Given the description of an element on the screen output the (x, y) to click on. 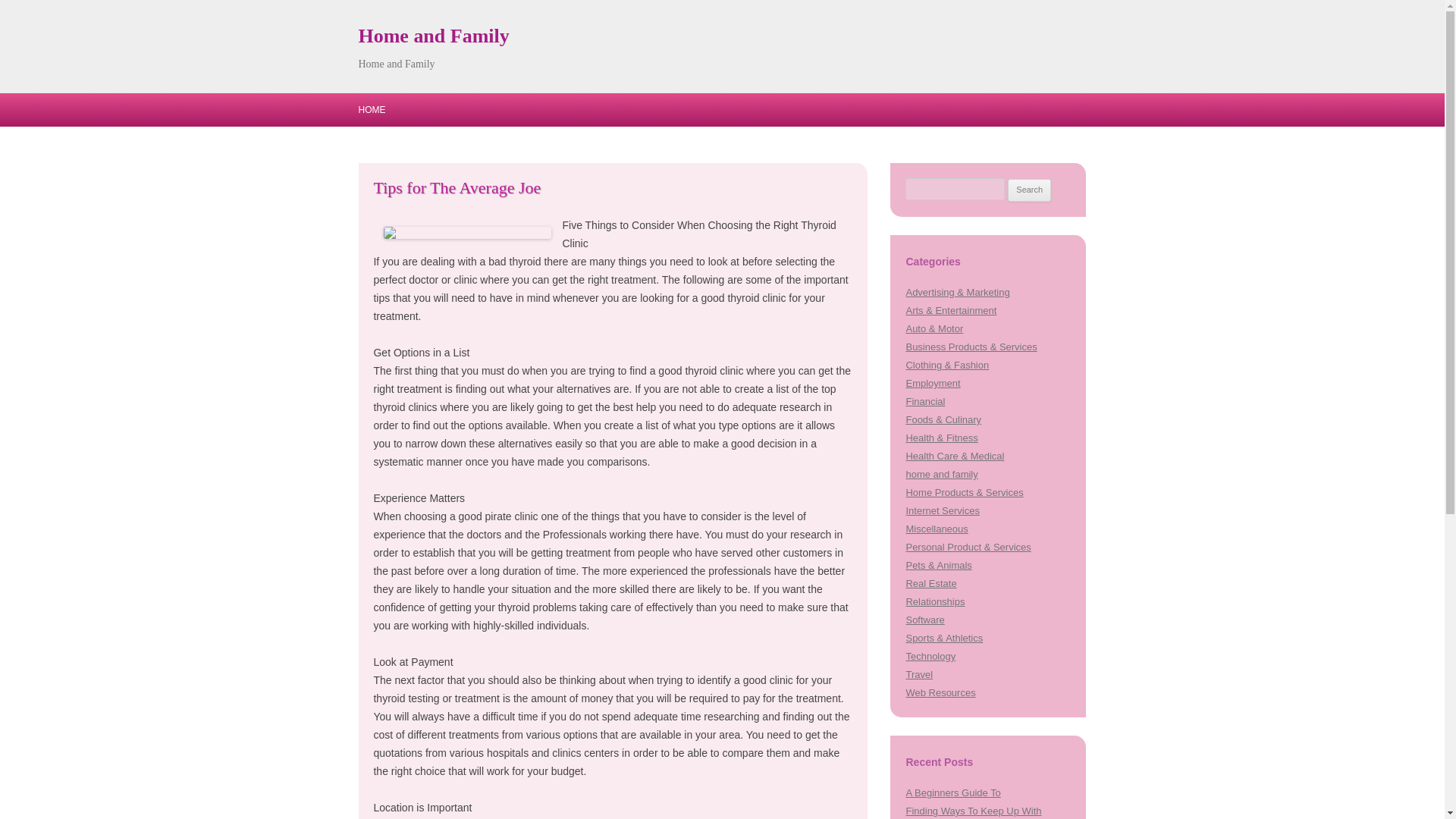
Relationships (934, 601)
Web Resources (940, 692)
Home and Family (433, 36)
Software (924, 619)
Financial (924, 401)
Travel (919, 674)
Employment (932, 383)
Real Estate (930, 583)
Finding Ways To Keep Up With (973, 810)
